Given the description of an element on the screen output the (x, y) to click on. 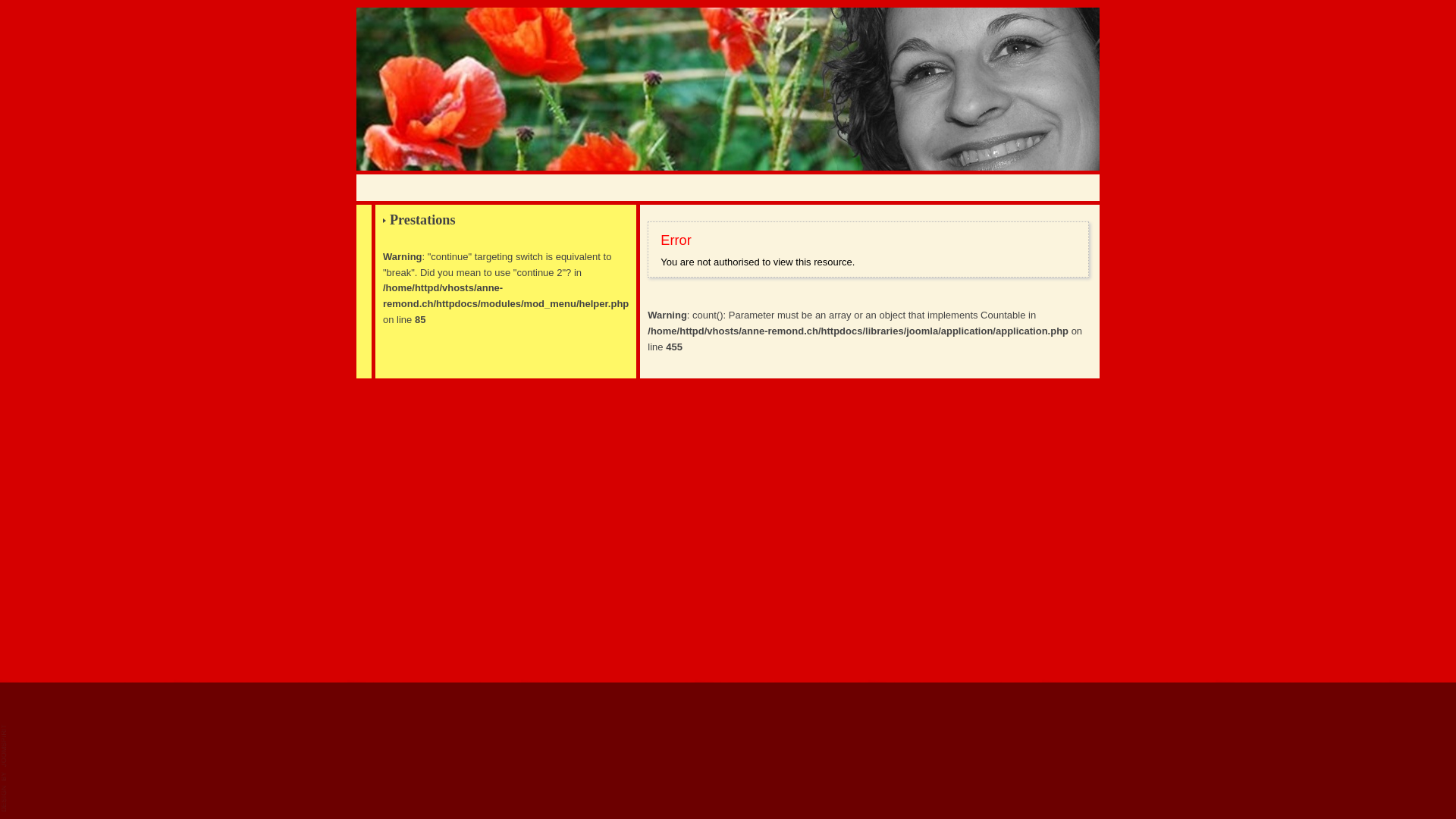
JoomSpirit Element type: text (4, 767)
